Given the description of an element on the screen output the (x, y) to click on. 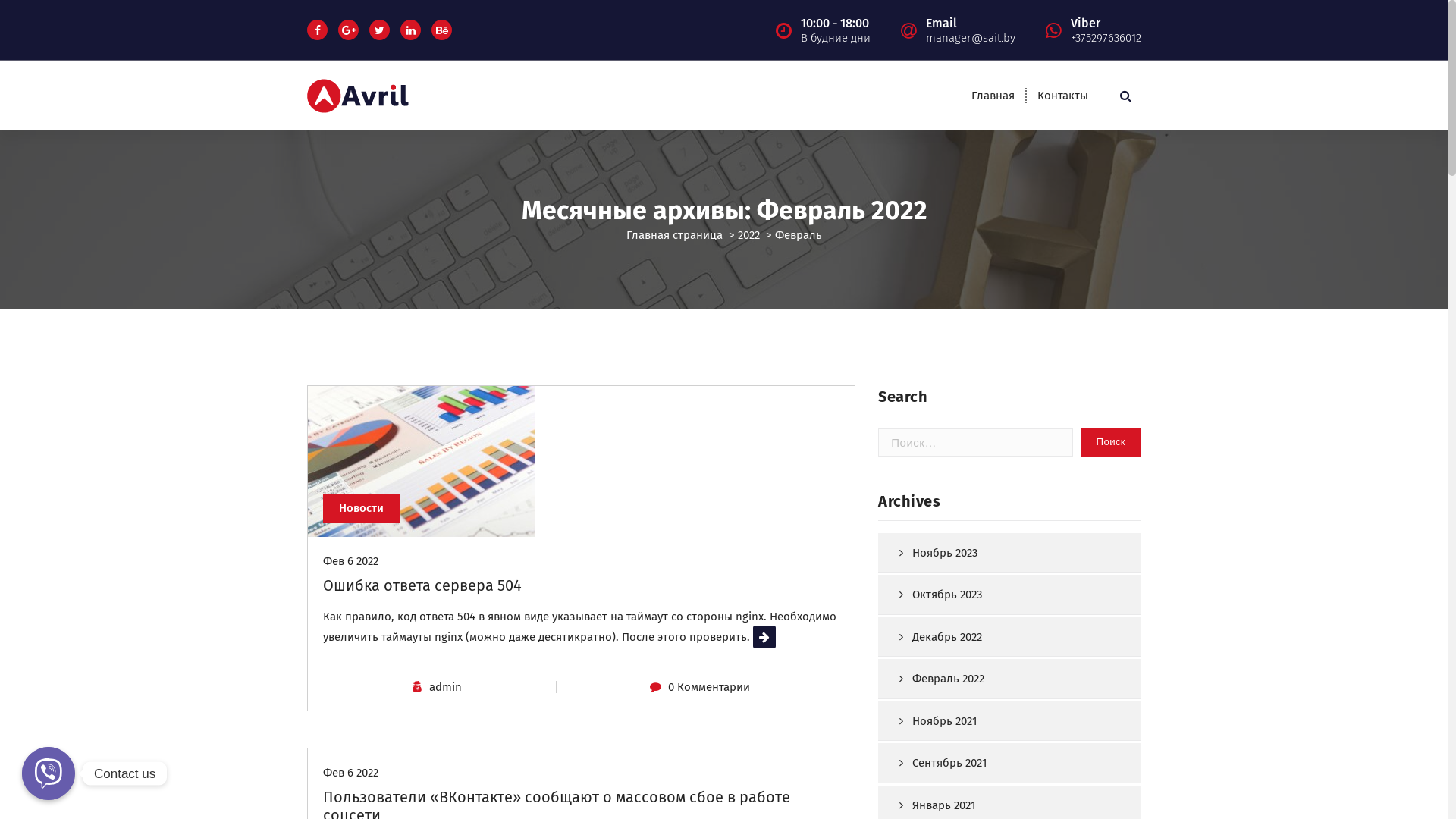
Email
manager@sait.by Element type: text (970, 29)
Contact us Element type: text (48, 773)
2022 Element type: text (748, 234)
admin Element type: text (445, 686)
Viber
+375297636012 Element type: text (1105, 29)
